Given the description of an element on the screen output the (x, y) to click on. 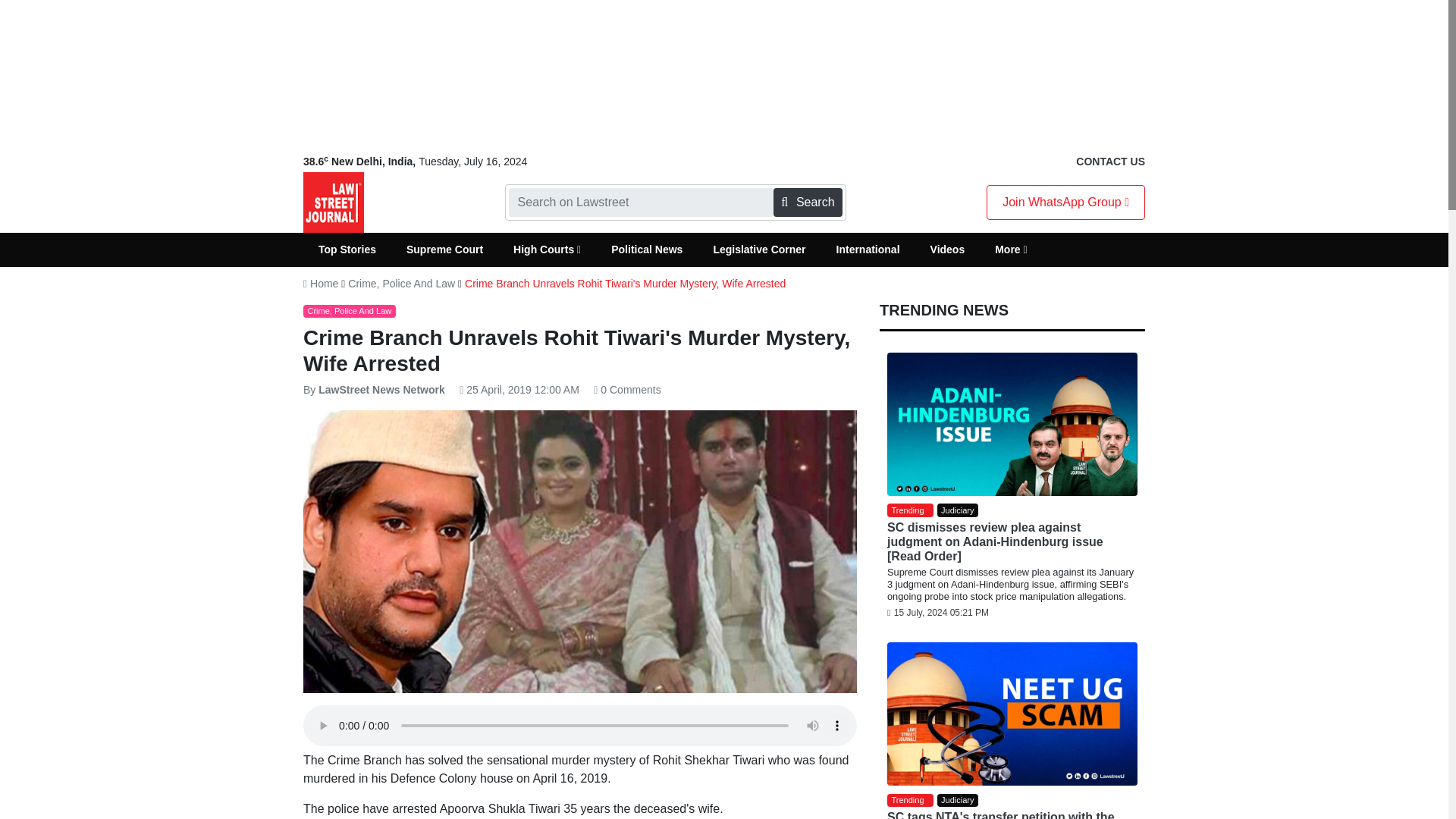
Videos (947, 249)
LawStreet Journal (333, 201)
CONTACT US (1109, 161)
Political News (646, 249)
Join WhatsApp Group (1065, 202)
International (868, 249)
Supreme Court (444, 249)
Search (807, 202)
Legislative Corner (759, 249)
High Courts (546, 249)
Top Stories (346, 249)
More (1010, 249)
